Given the description of an element on the screen output the (x, y) to click on. 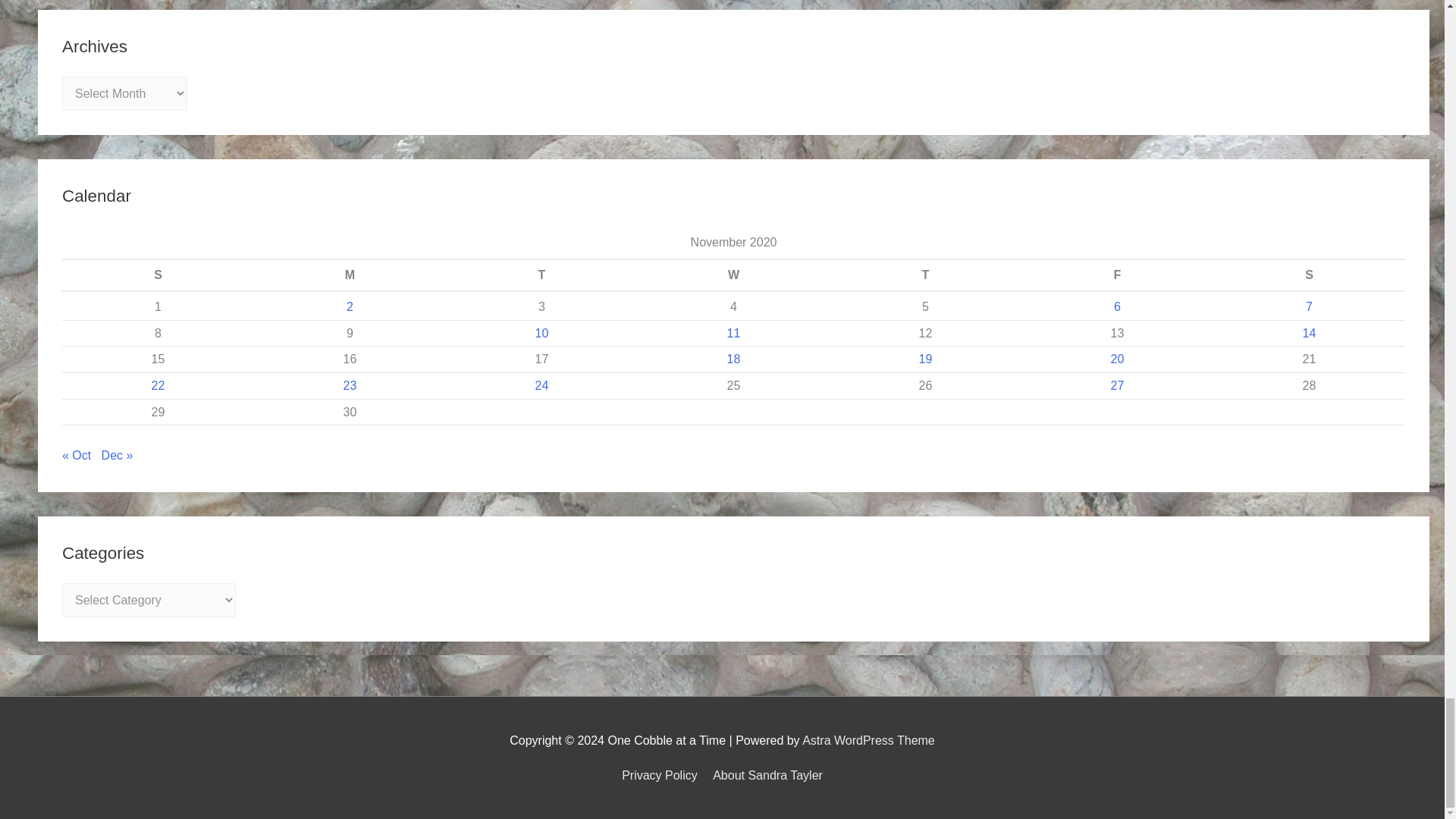
Saturday (1308, 274)
Sunday (157, 274)
19 (925, 358)
10 (541, 332)
14 (1309, 332)
23 (349, 385)
11 (733, 332)
27 (1117, 385)
24 (541, 385)
Thursday (925, 274)
18 (733, 358)
Friday (1117, 274)
22 (158, 385)
Monday (349, 274)
20 (1117, 358)
